Given the description of an element on the screen output the (x, y) to click on. 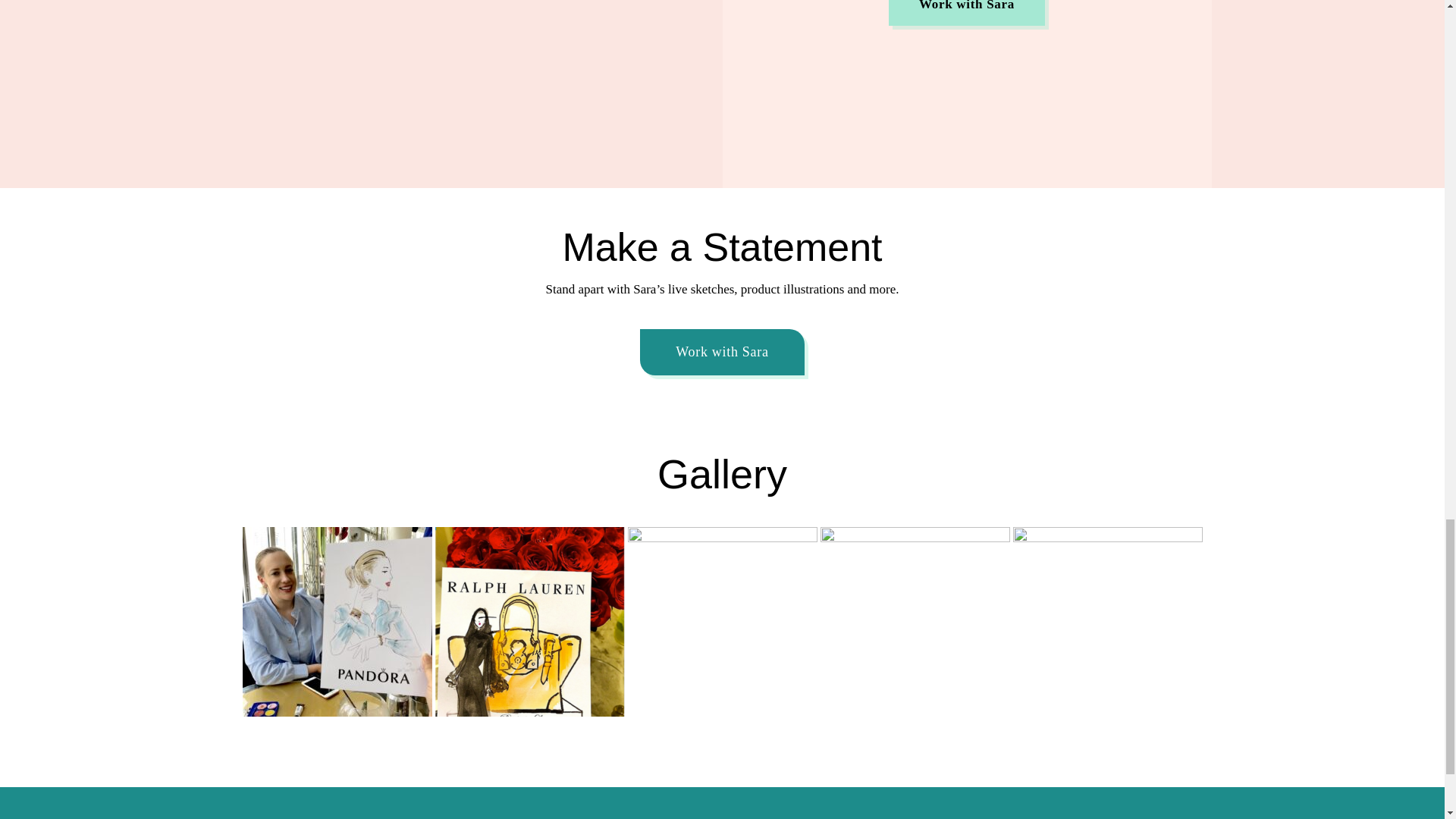
Work with Sara (721, 352)
Work with Sara (966, 12)
